Given the description of an element on the screen output the (x, y) to click on. 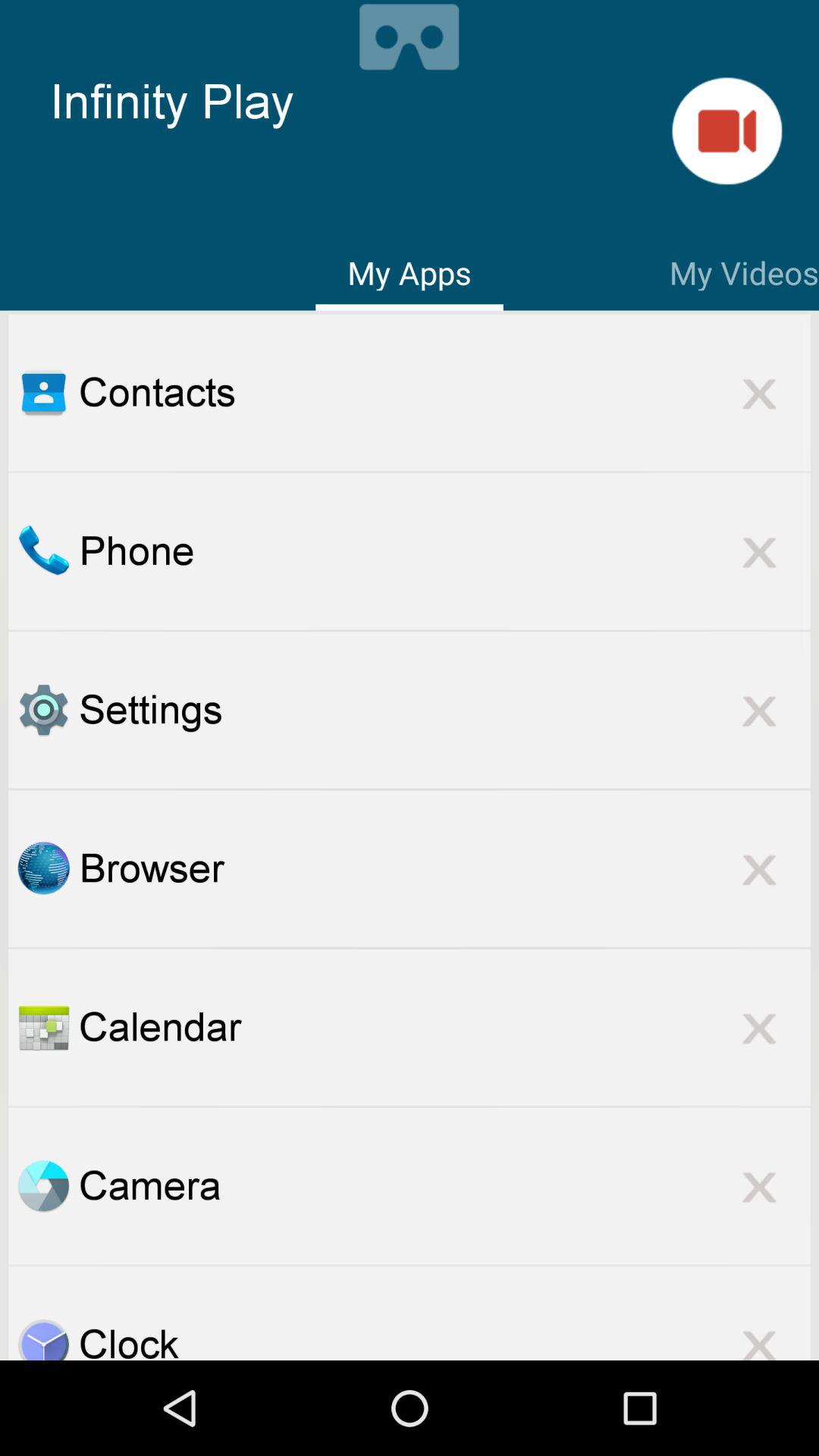
go to closed (759, 392)
